Given the description of an element on the screen output the (x, y) to click on. 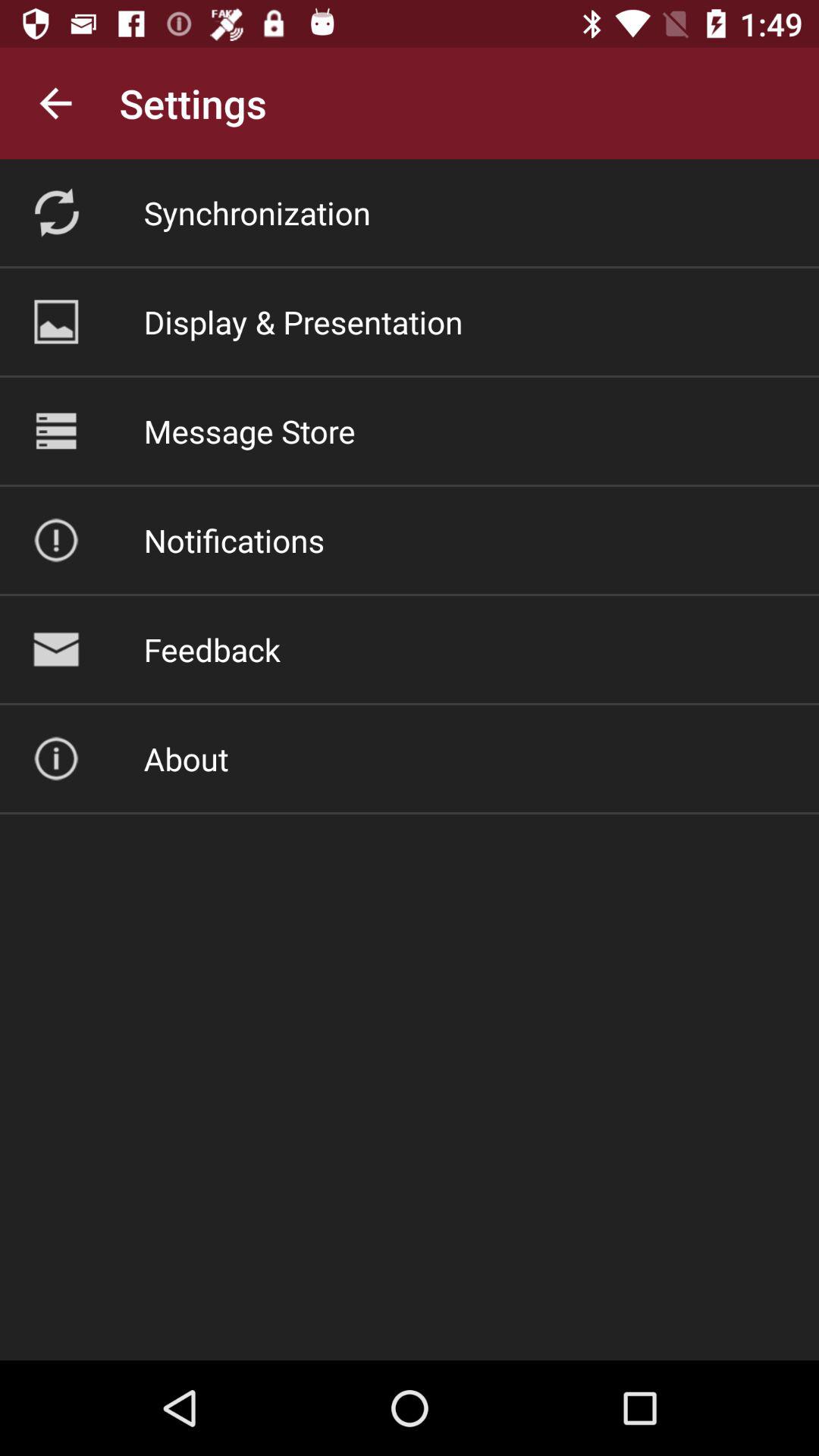
press the synchronization icon (256, 212)
